Given the description of an element on the screen output the (x, y) to click on. 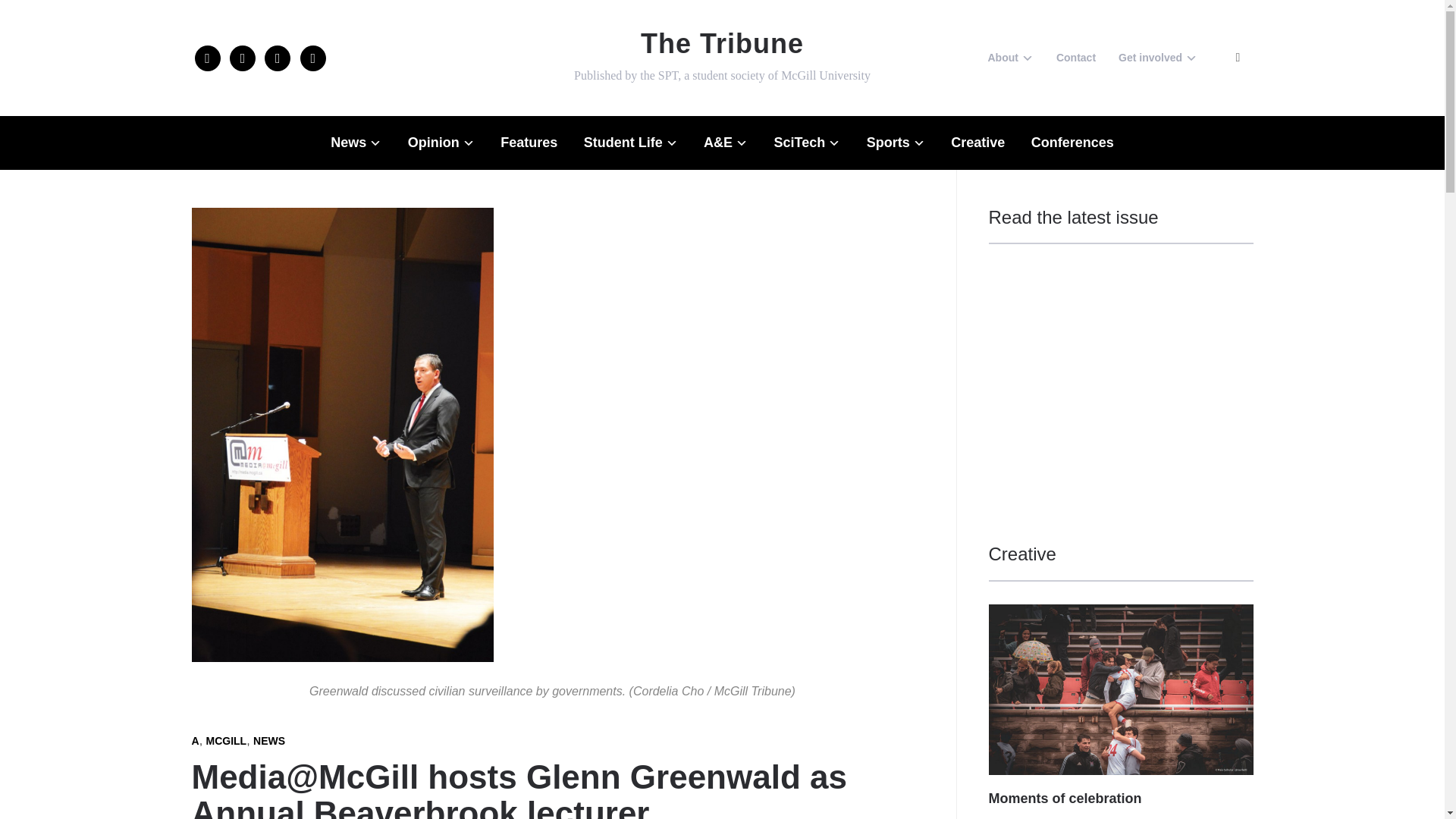
About (1009, 58)
Twitter (243, 56)
The Tribune (721, 42)
youtube (312, 56)
Moments of celebration (1120, 614)
Default Label (312, 56)
instagram (276, 56)
Moments of celebration (1064, 798)
Published by the SPT, a student society of McGill University (721, 42)
twitter (243, 56)
Contact (1076, 58)
Search (1237, 58)
Instagram (276, 56)
facebook (206, 56)
Get involved (1157, 58)
